Given the description of an element on the screen output the (x, y) to click on. 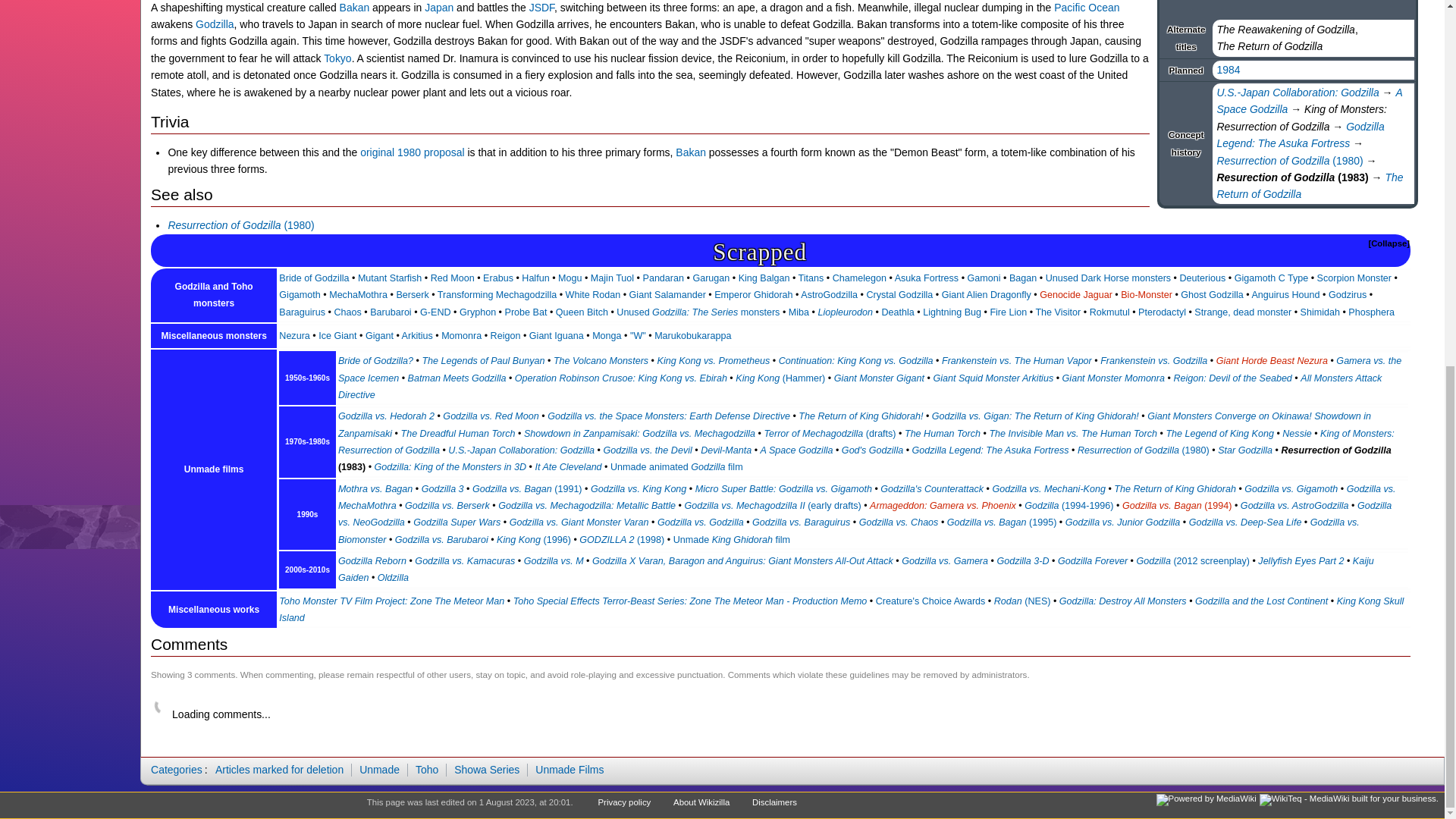
Godzilla (213, 24)
Japan (438, 7)
Godzilla Legend: The Asuka Fortress (1299, 134)
JSDF (541, 7)
The Return of Godzilla (1309, 185)
Bakan (354, 7)
The Return of Godzilla (1309, 185)
A Space Godzilla (1308, 100)
U.S.-Japan Collaboration: Godzilla (1296, 92)
1984 (1227, 69)
